Given the description of an element on the screen output the (x, y) to click on. 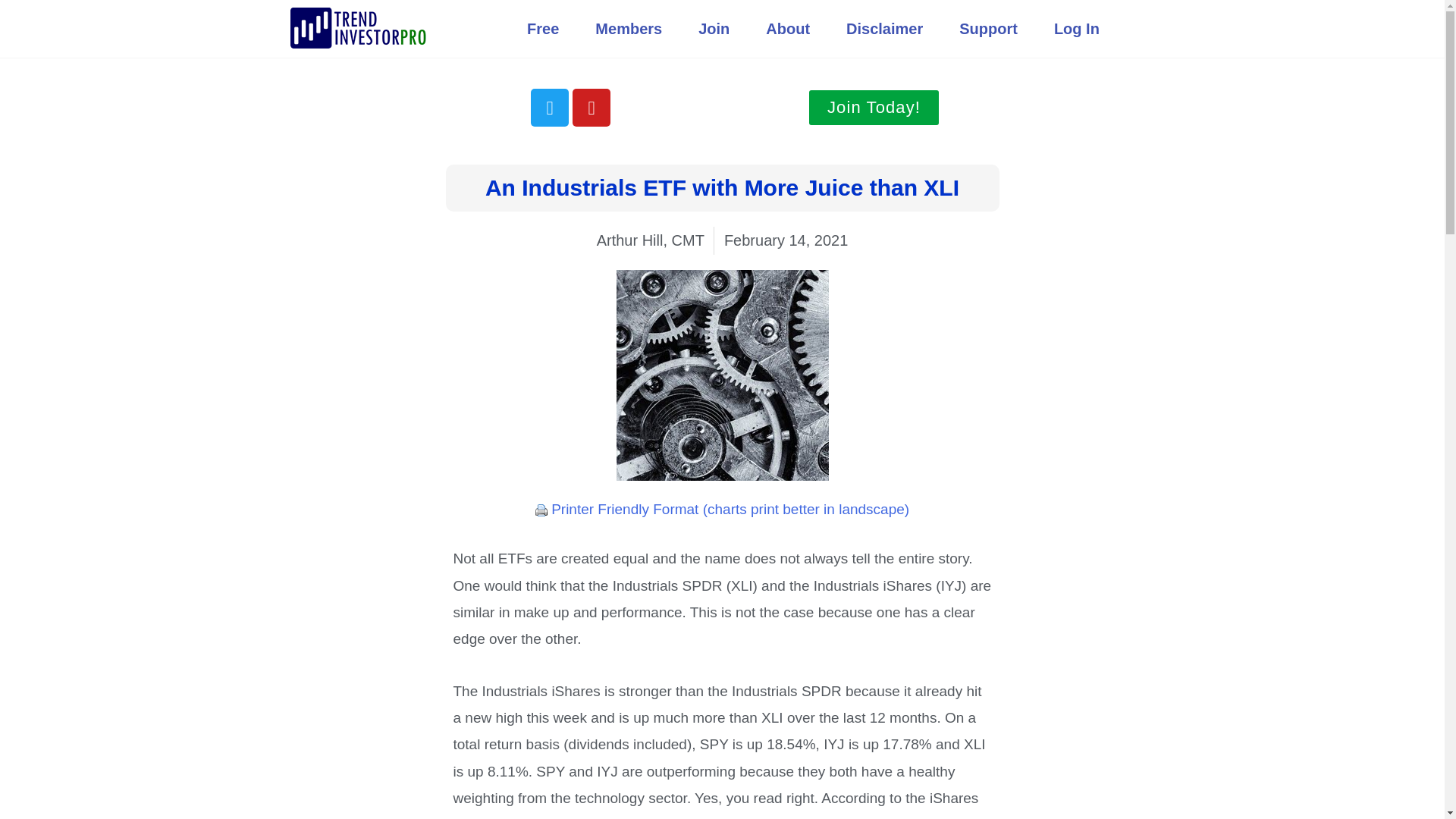
About (788, 28)
Free (542, 28)
Disclaimer (884, 28)
Support (987, 28)
Join (713, 28)
Members (627, 28)
Log In (1076, 28)
